Given the description of an element on the screen output the (x, y) to click on. 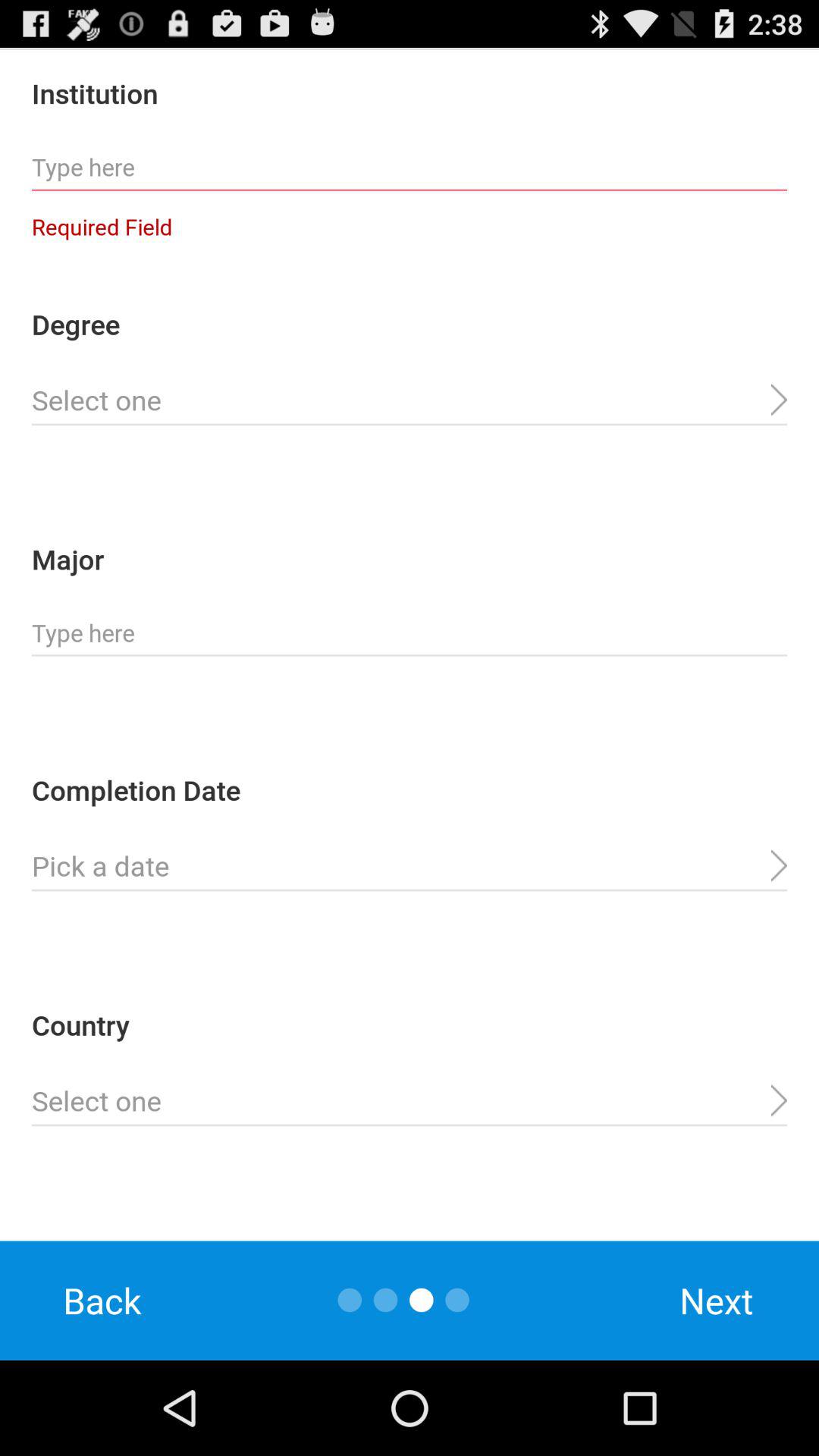
enter major information (409, 633)
